Given the description of an element on the screen output the (x, y) to click on. 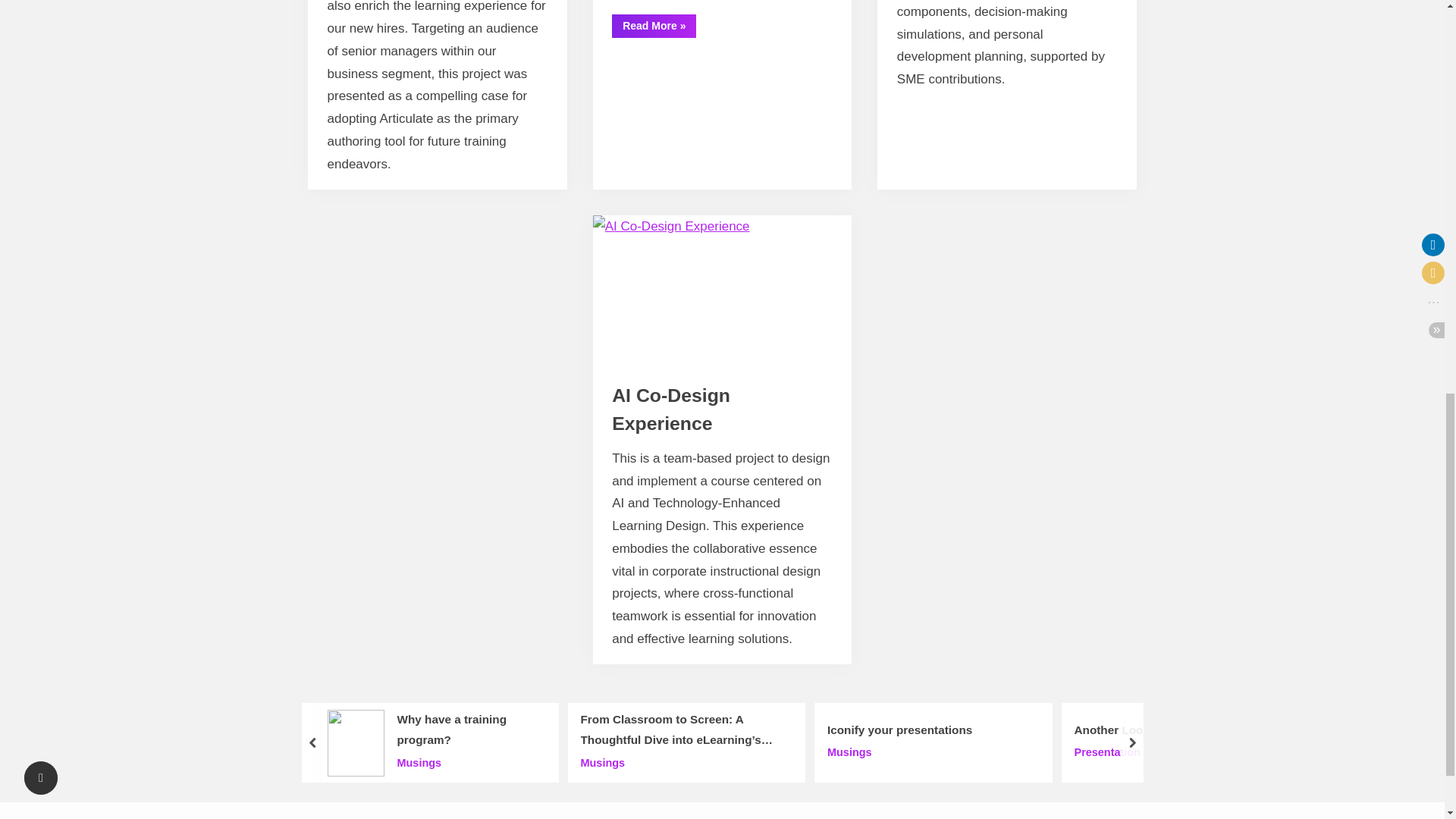
Design and Development (692, 406)
AI Co-Design Experience (670, 409)
Musings (468, 763)
Musings (681, 763)
Iconify your presentations (899, 730)
Why have a training program? (468, 730)
